Given the description of an element on the screen output the (x, y) to click on. 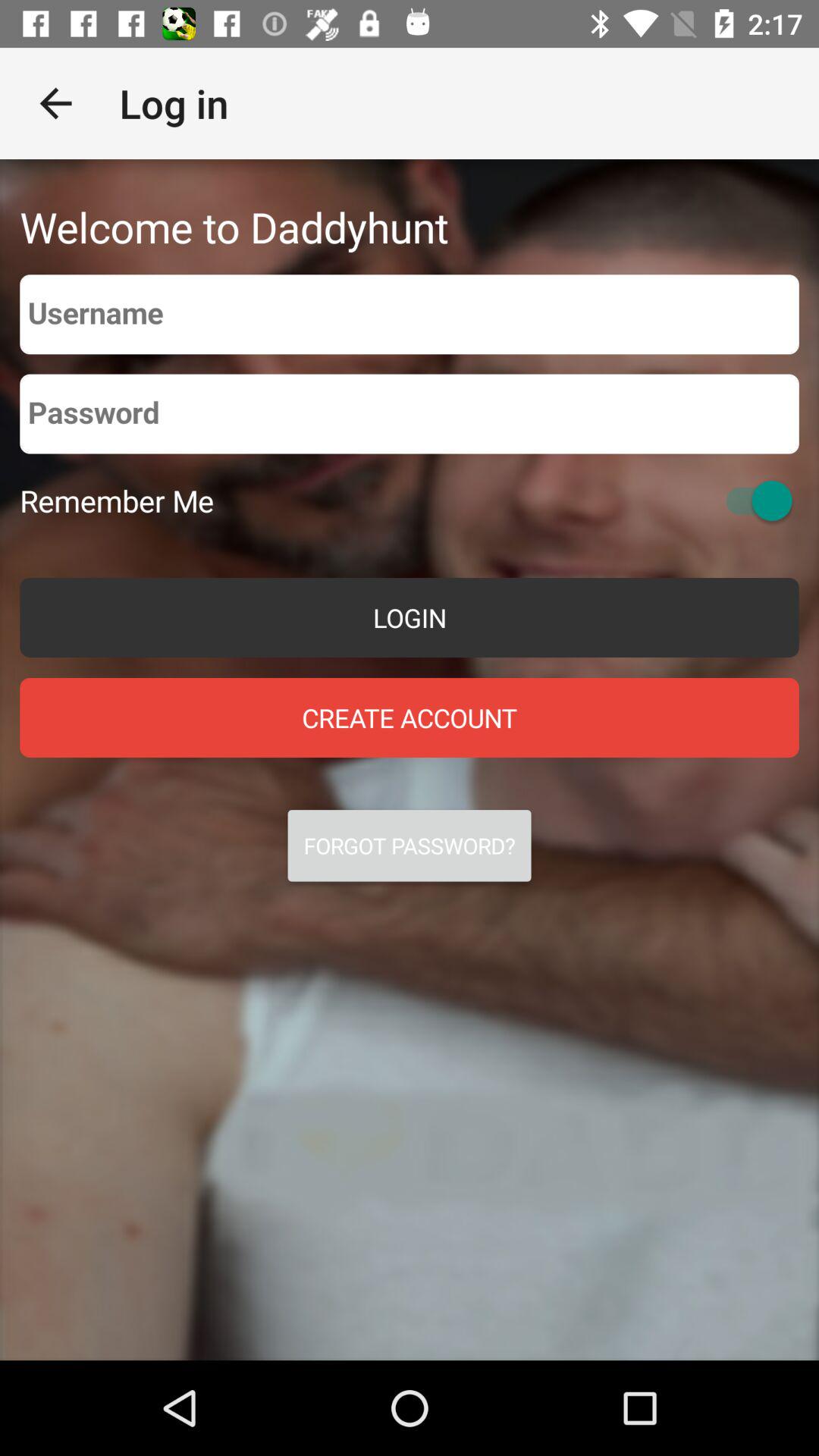
tap the login icon (409, 617)
